Given the description of an element on the screen output the (x, y) to click on. 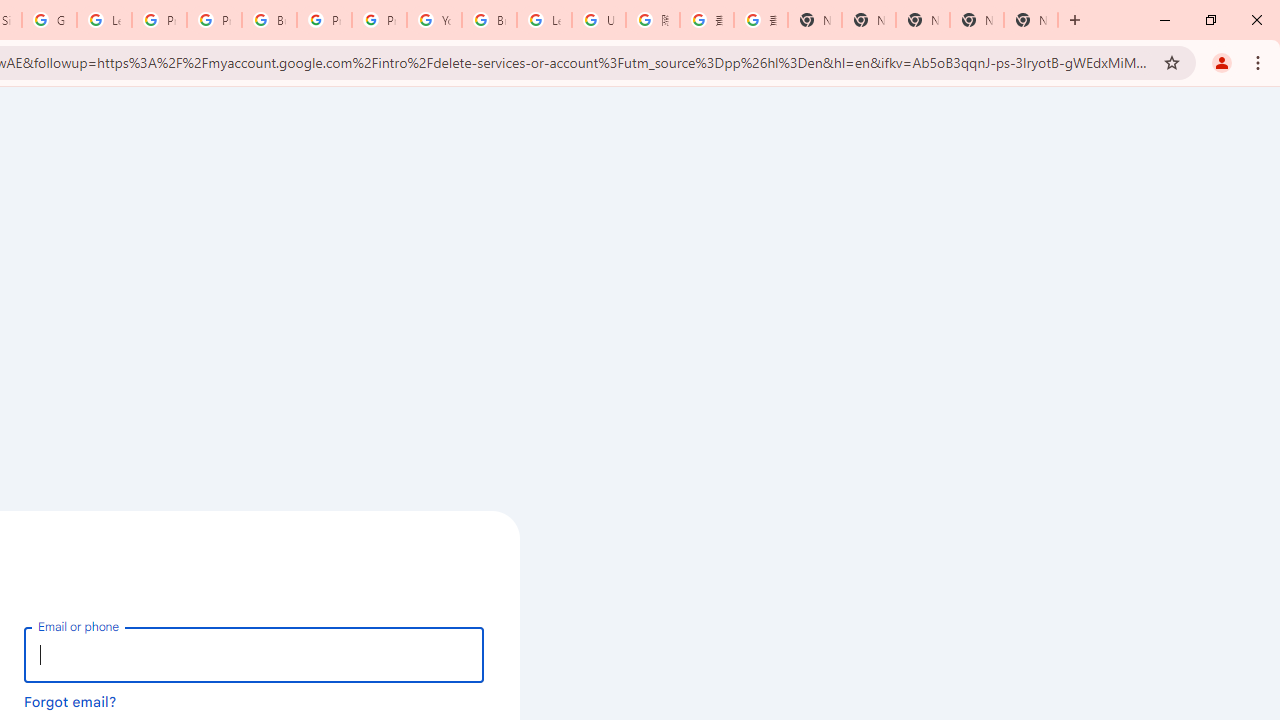
Email or phone (253, 654)
Privacy Help Center - Policies Help (158, 20)
Forgot email? (70, 701)
Privacy Help Center - Policies Help (213, 20)
New Tab (815, 20)
